Given the description of an element on the screen output the (x, y) to click on. 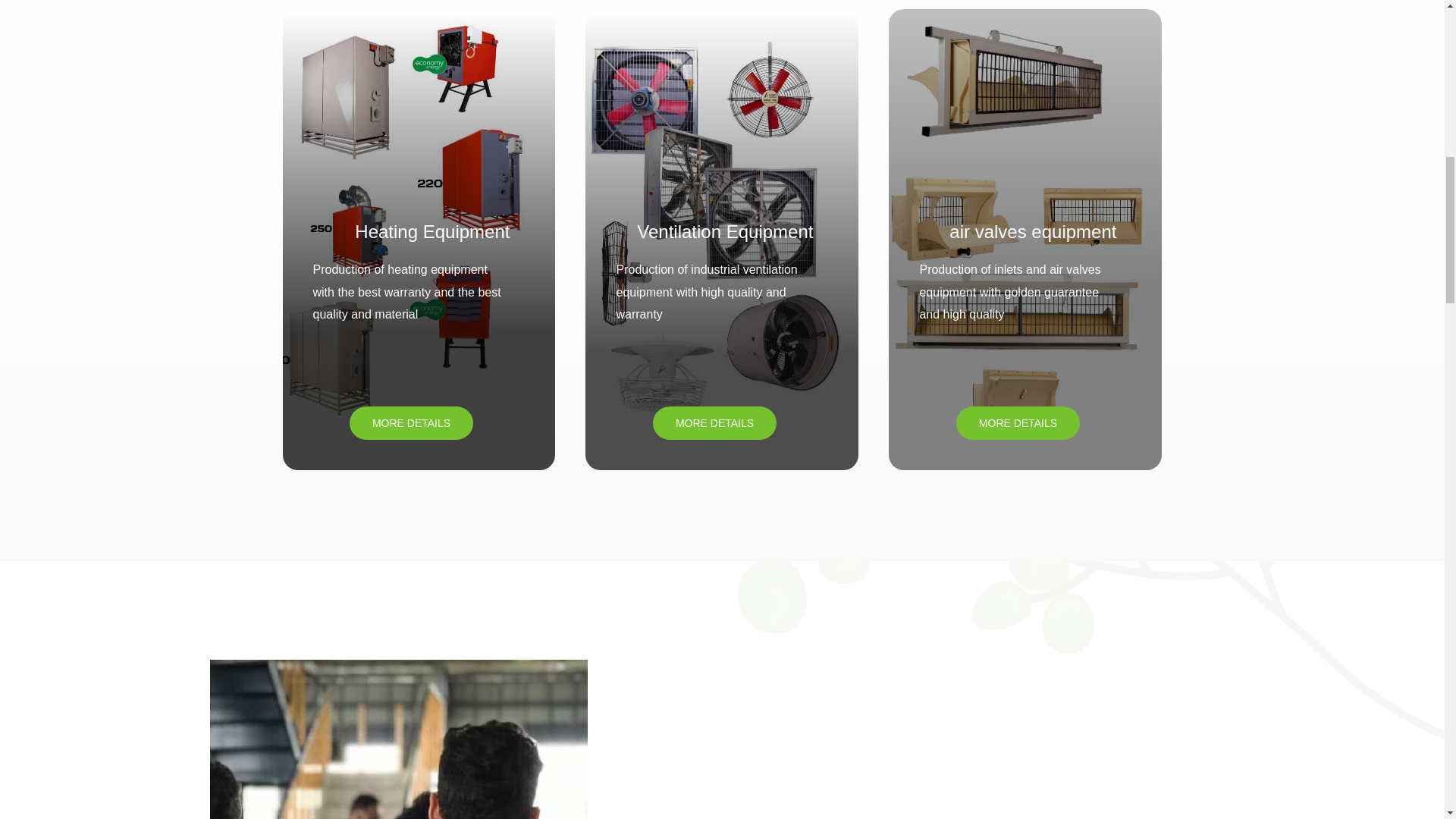
Heating Equipment (432, 231)
MORE DETAILS (1018, 422)
MORE DETAILS (411, 422)
Ventilation Equipment (724, 231)
MORE DETAILS (714, 422)
air valves equipment (1032, 231)
